Given the description of an element on the screen output the (x, y) to click on. 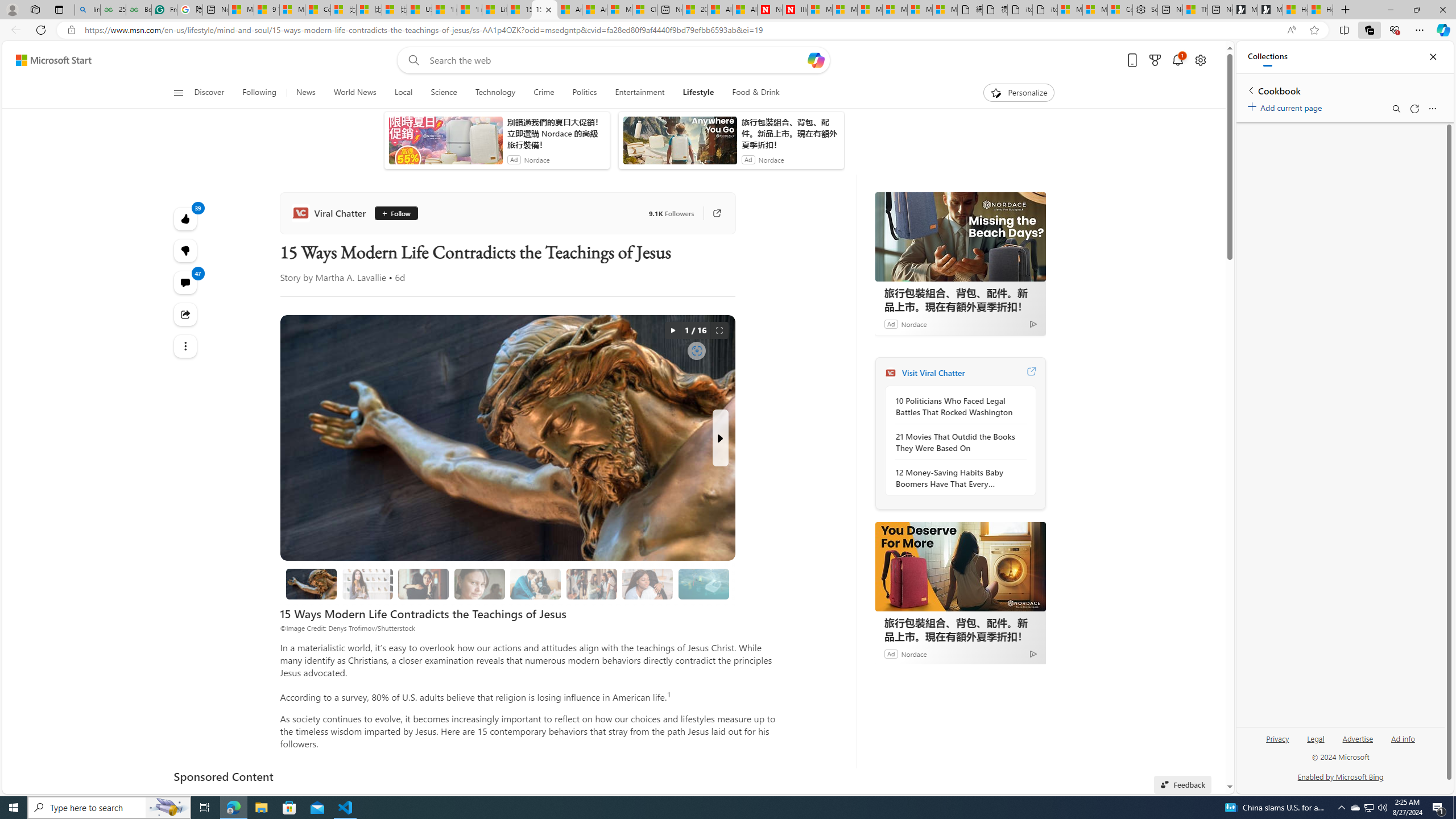
4. The Manipulative (423, 583)
News (305, 92)
Search (1396, 108)
14. Environmental Neglect (703, 583)
Open settings (1199, 60)
Privacy (1278, 738)
Tab actions menu (58, 9)
Dislike (184, 250)
Add current page (1286, 105)
New Tab (1346, 9)
Split screen (1344, 29)
15 Truths About Jesus Christ for Every Believer (311, 583)
Open Copilot (816, 59)
More options menu (1432, 108)
